Given the description of an element on the screen output the (x, y) to click on. 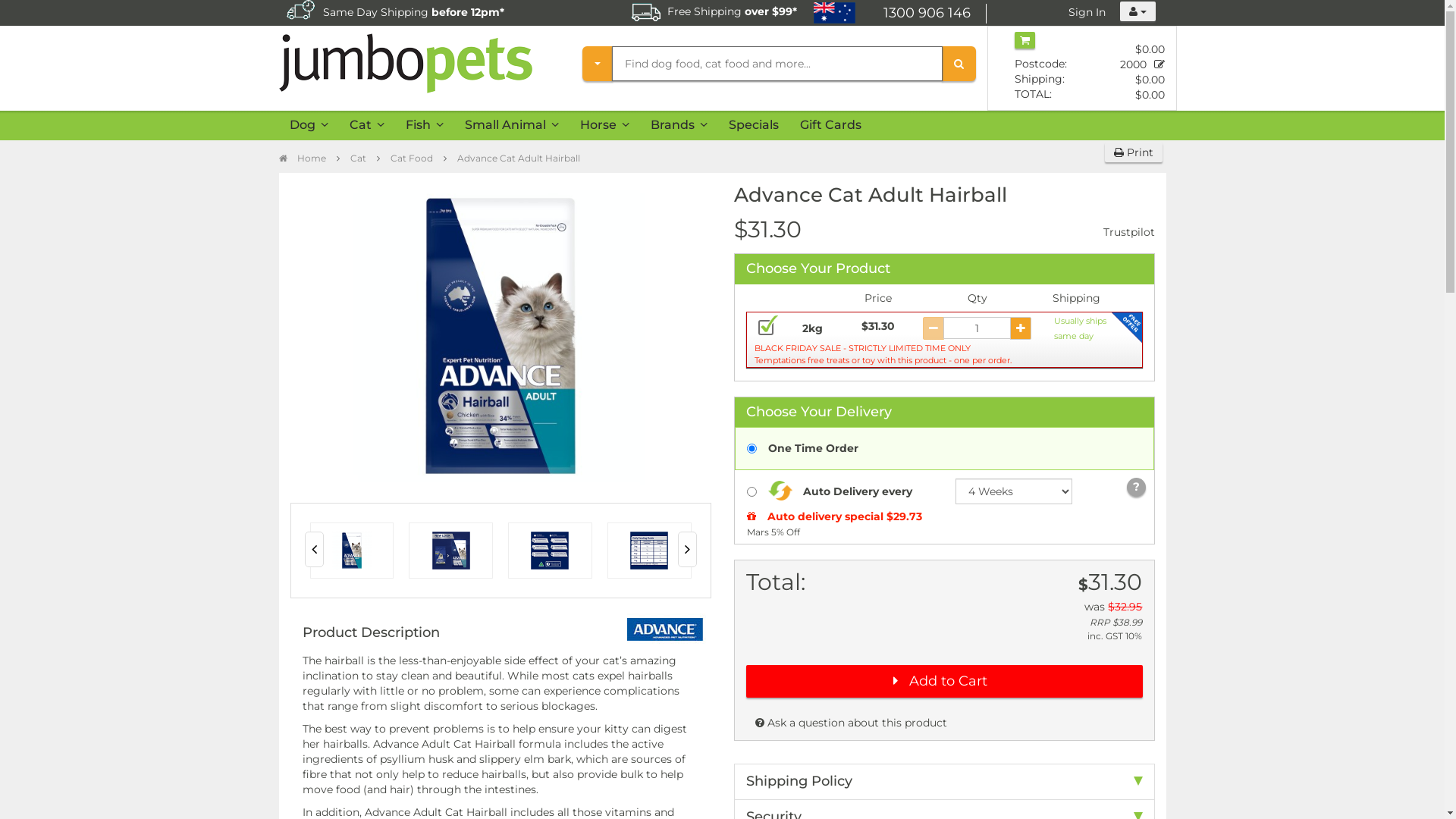
Dog Element type: text (308, 125)
Small Animal Element type: text (510, 125)
? Element type: text (1135, 486)
View Cart Element type: hover (1024, 39)
Brands Element type: text (679, 125)
Print Element type: text (1132, 152)
Advance Cat Adult Hairball Element type: hover (500, 335)
Gift Cards Element type: text (829, 125)
Go to Brand Advance Element type: hover (665, 628)
Cat Food Element type: text (410, 157)
Ask a question about this product Element type: text (851, 722)
Home Element type: text (302, 157)
1300 906 146 Element type: text (934, 13)
Auto Delivery Element type: text (455, 11)
Free Shipping over $99* Element type: text (713, 11)
Horse Element type: text (603, 125)
Advance Cat Adult Hairball Element type: text (517, 157)
Specials Element type: text (752, 125)
Trustpilot Element type: text (1128, 231)
Add to Cart Element type: text (944, 681)
Fish Element type: text (423, 125)
Cat Element type: text (366, 125)
Cat Element type: text (358, 157)
